Given the description of an element on the screen output the (x, y) to click on. 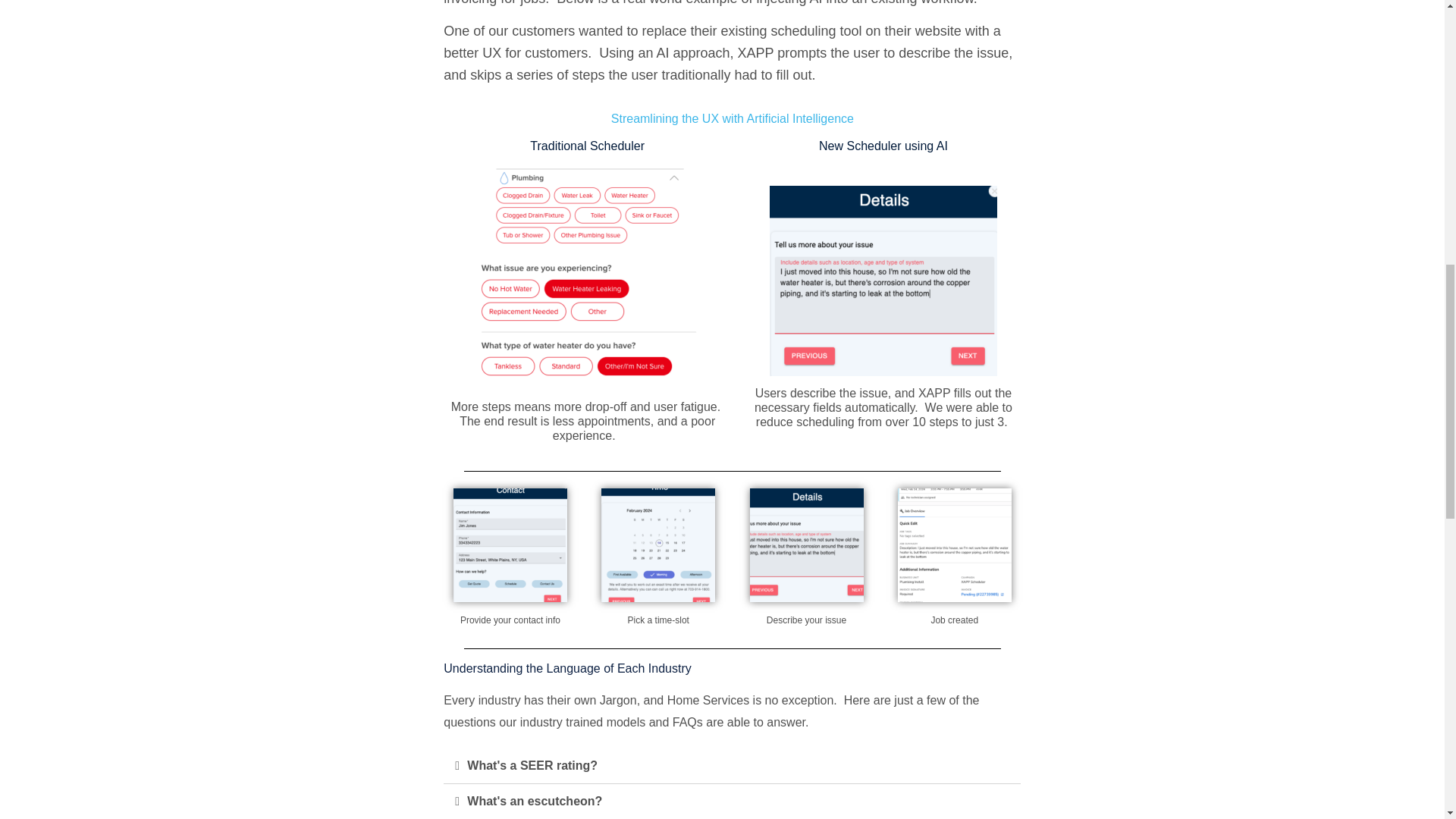
What's an escutcheon? (534, 800)
What's a SEER rating? (531, 765)
